Given the description of an element on the screen output the (x, y) to click on. 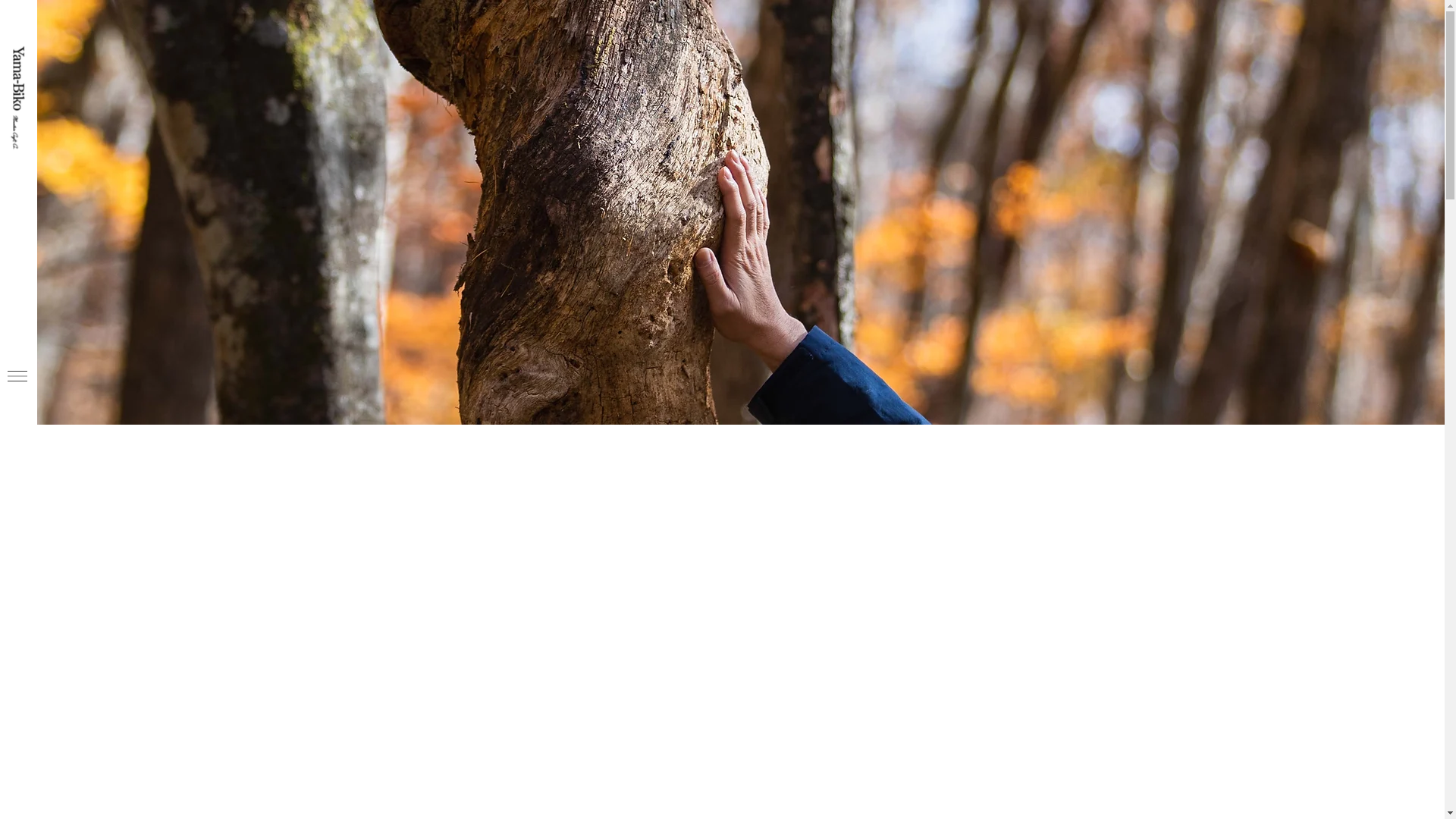
logo.png (86, 51)
